Given the description of an element on the screen output the (x, y) to click on. 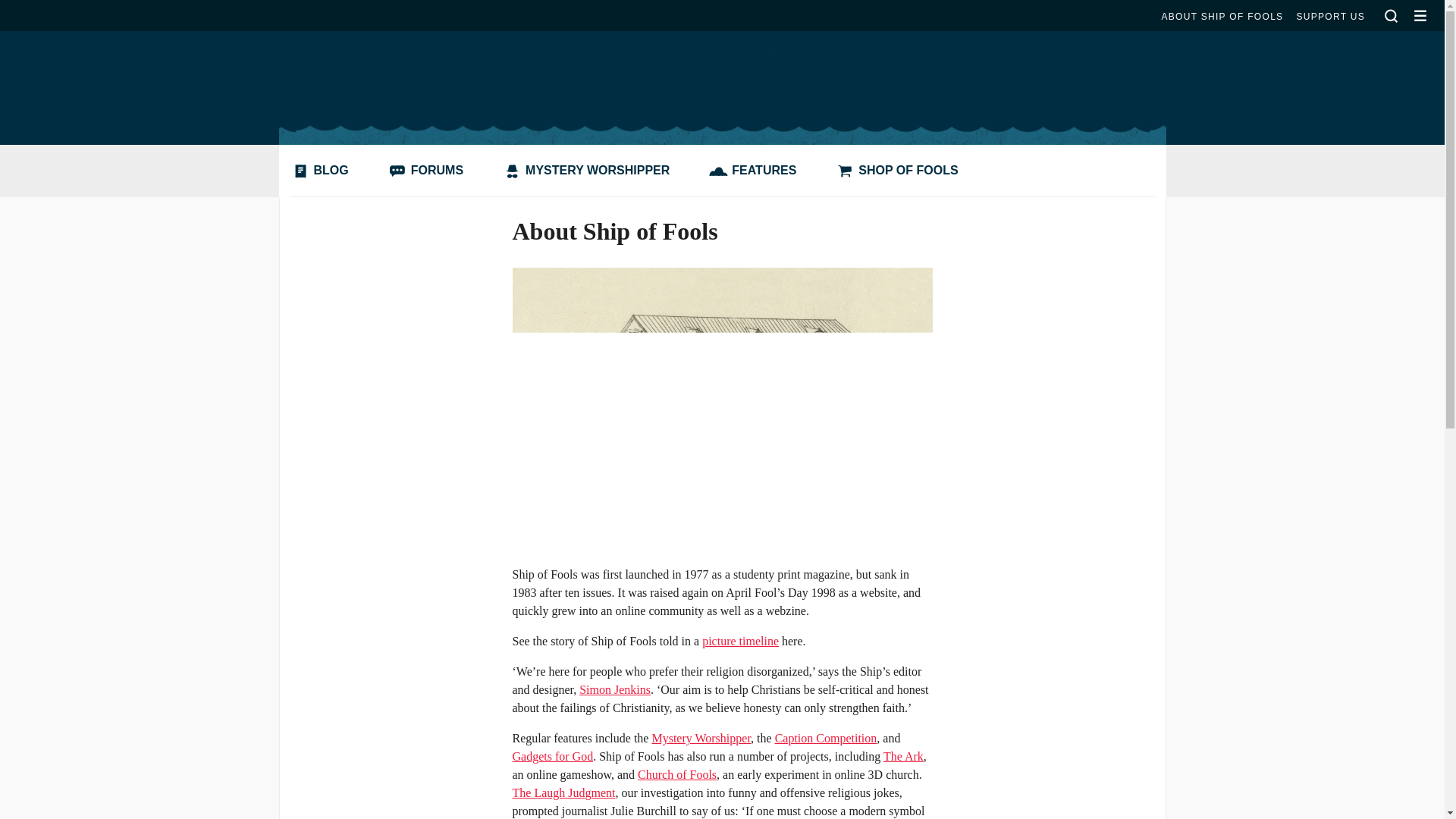
The Ark (903, 756)
FORUMS (429, 170)
Simon Jenkins (614, 689)
MYSTERY WORSHIPPER (590, 170)
Mystery Worshipper (700, 738)
BLOG (322, 170)
SHOP OF FOOLS (900, 170)
The Laugh Judgment (563, 792)
Gadgets for God (553, 756)
picture timeline (739, 640)
